Given the description of an element on the screen output the (x, y) to click on. 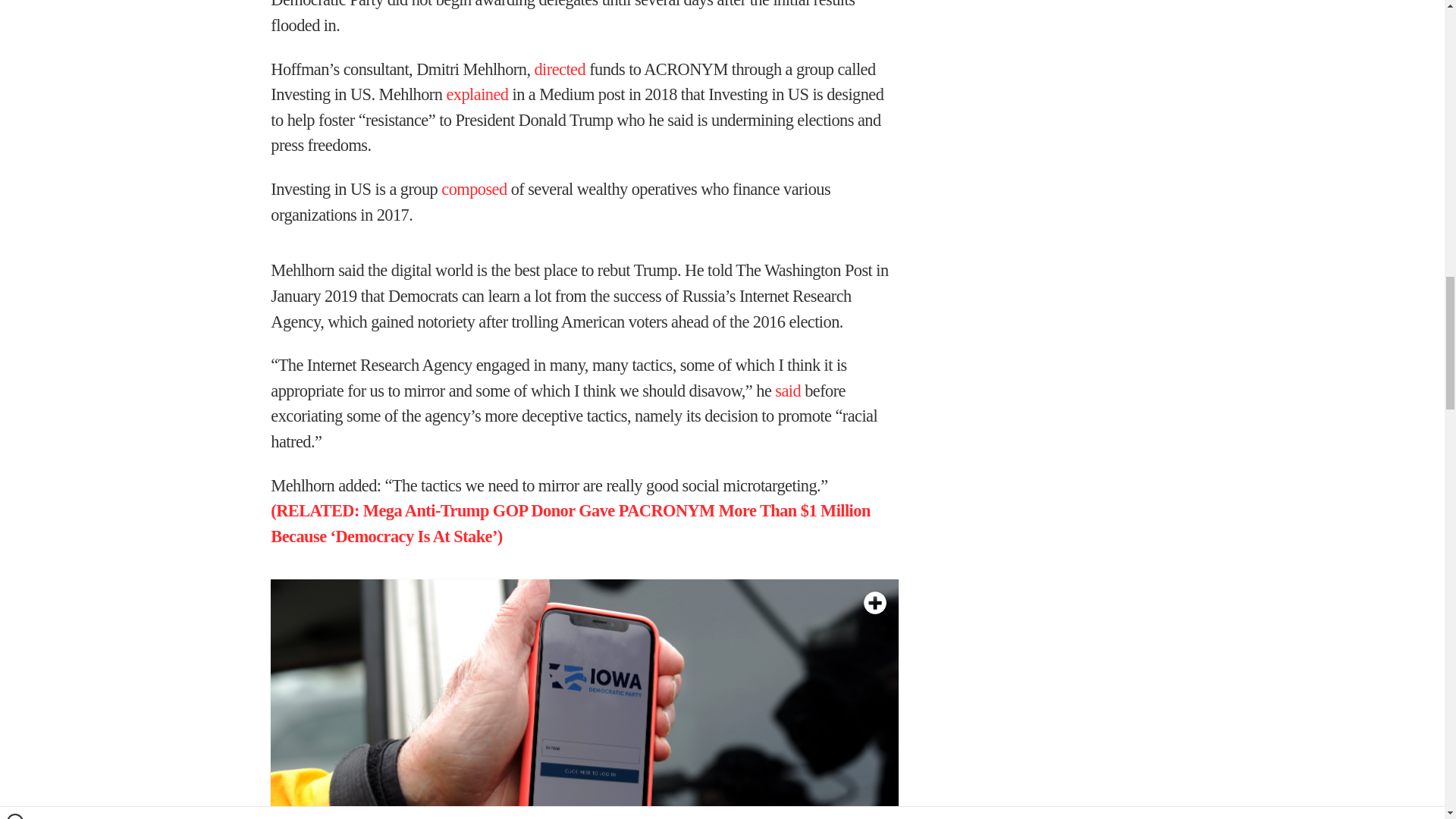
explained (476, 94)
directed (559, 68)
